Given the description of an element on the screen output the (x, y) to click on. 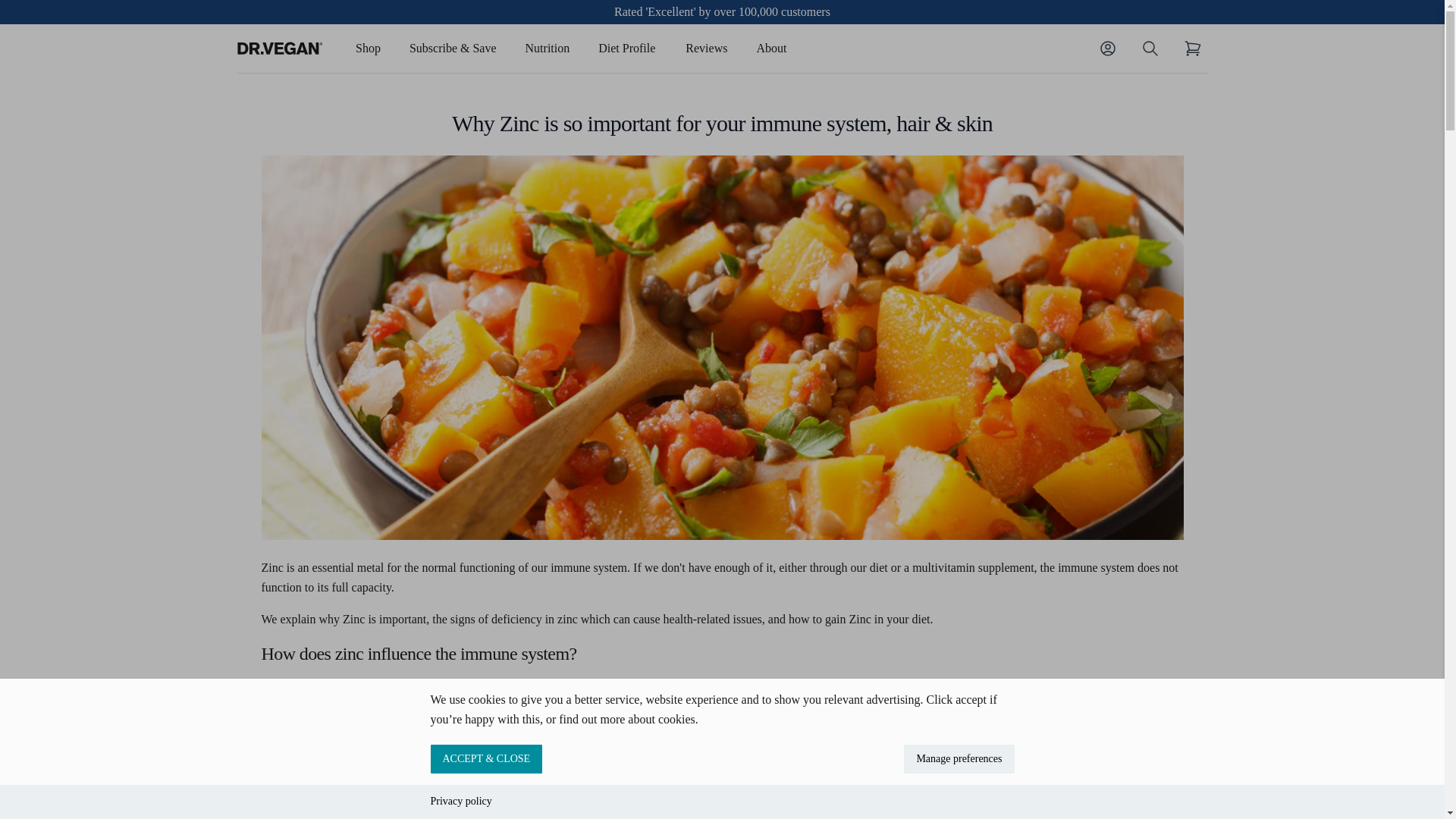
Manage preferences (958, 758)
zinc immune system (411, 686)
more about cookies. (648, 718)
Privacy policy (461, 800)
zinc foods (696, 771)
